Given the description of an element on the screen output the (x, y) to click on. 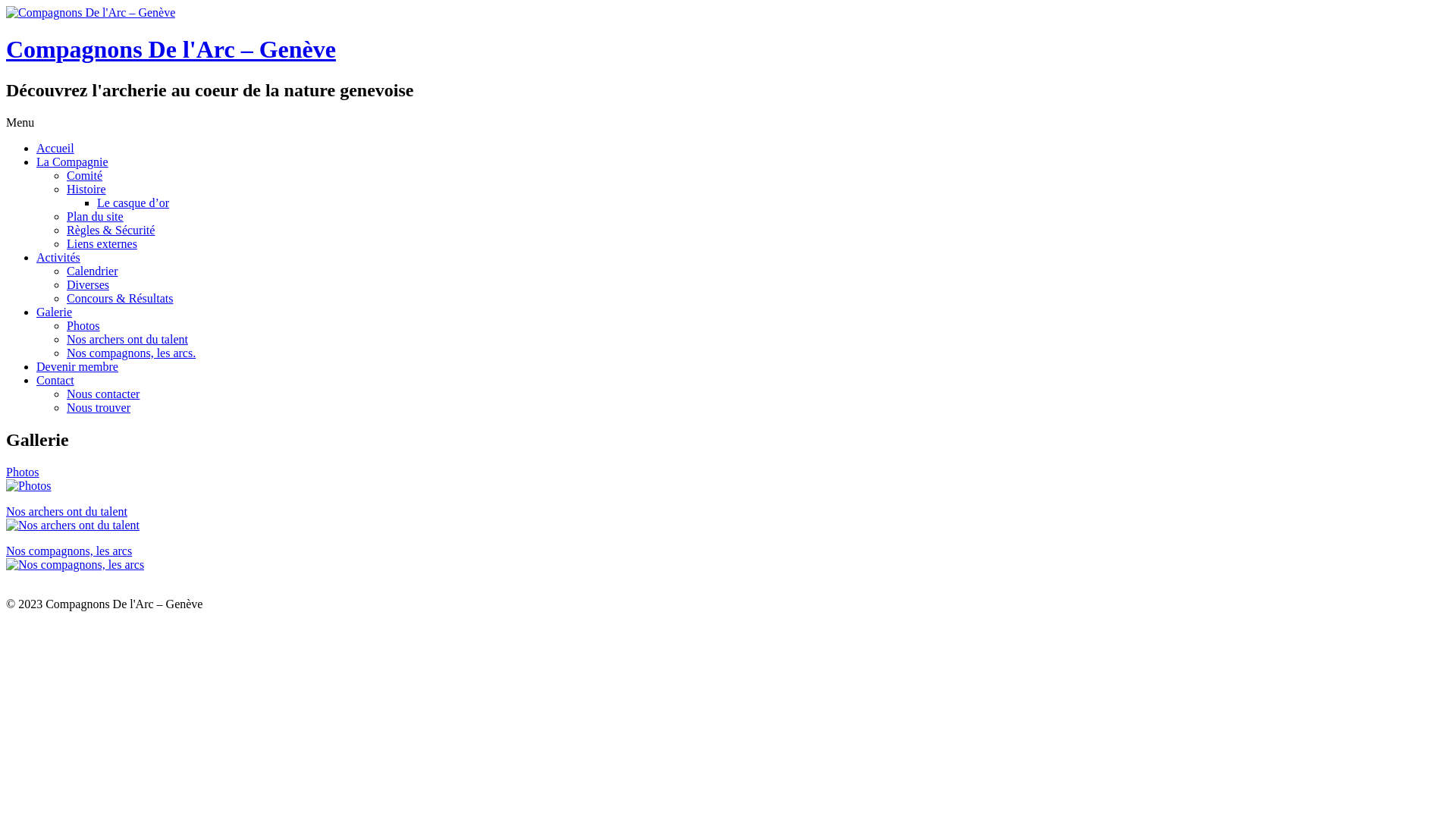
Histoire Element type: text (86, 188)
Nos compagnons, les arcs. Element type: text (130, 352)
Plan du site Element type: text (94, 216)
Photos Element type: text (22, 471)
Galerie Element type: text (54, 311)
Diverses Element type: text (87, 284)
Photos Element type: text (83, 325)
Nous trouver Element type: text (98, 407)
Nos archers ont du talent Element type: text (66, 511)
Nos archers ont du talent Element type: text (127, 338)
Nos compagnons, les arcs Element type: text (68, 550)
Liens externes Element type: text (101, 243)
La Compagnie Element type: text (72, 161)
Contact Element type: text (55, 379)
Devenir membre Element type: text (77, 366)
Accueil Element type: text (55, 147)
Nous contacter Element type: text (102, 393)
Calendrier Element type: text (92, 270)
